Given the description of an element on the screen output the (x, y) to click on. 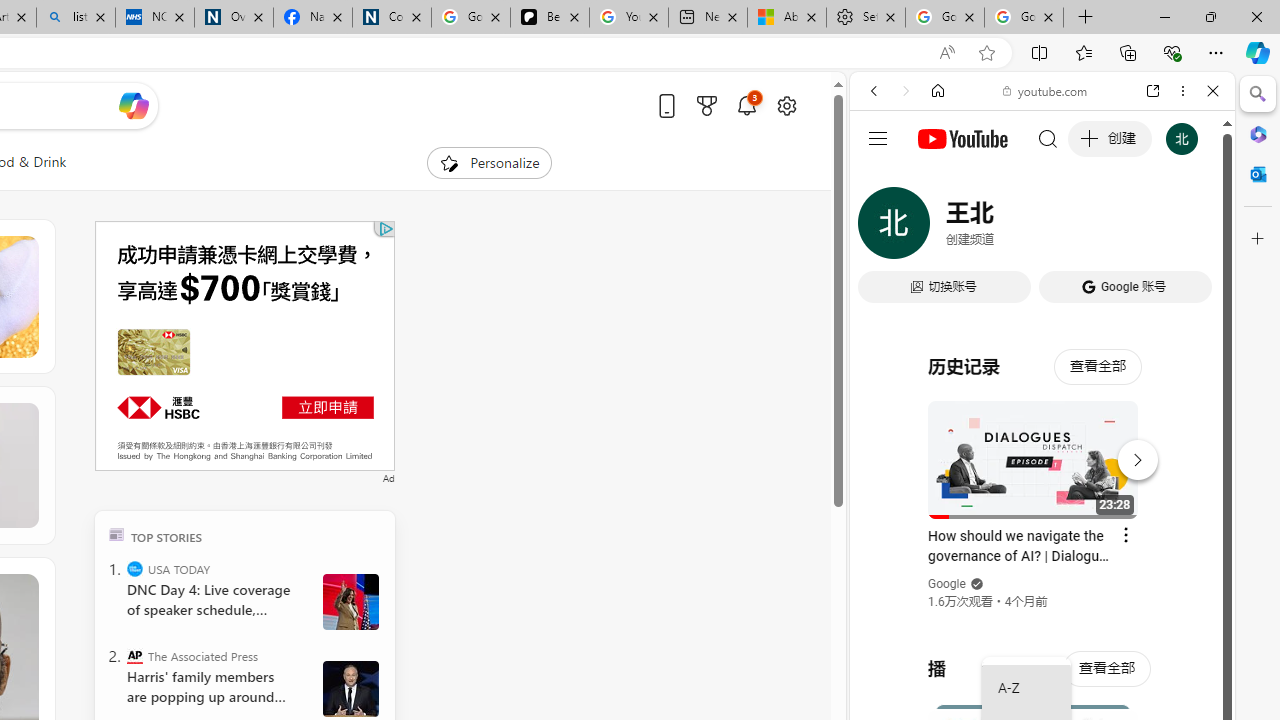
Trailer #2 [HD] (1042, 594)
Search Filter, Search Tools (1093, 228)
Open link in new tab (1153, 91)
SEARCH TOOLS (1093, 228)
The Associated Press (134, 655)
Trailer #2 [HD] (1042, 592)
Forward (906, 91)
A-Z (1026, 688)
